Given the description of an element on the screen output the (x, y) to click on. 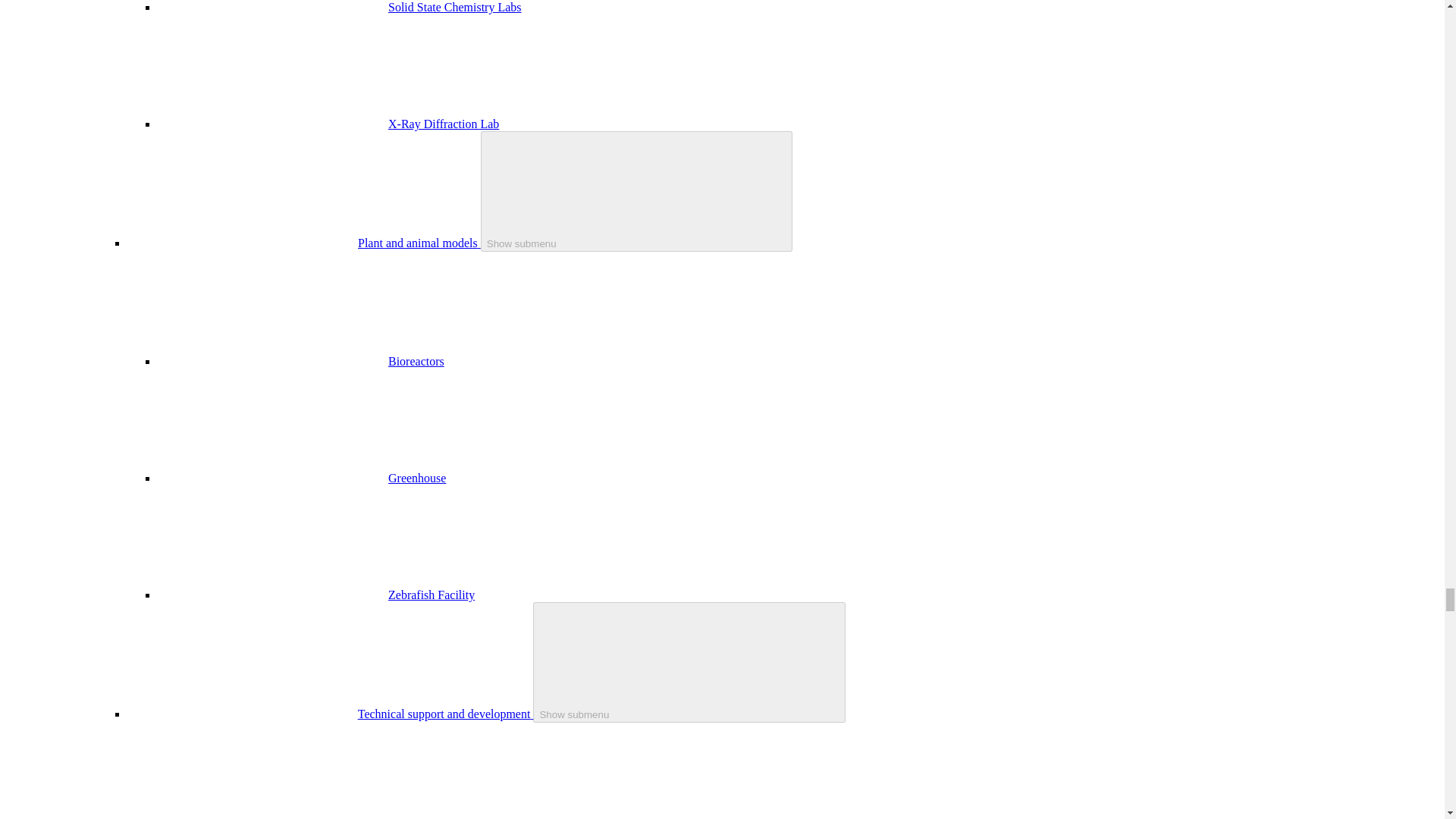
X-Ray Diffraction Lab (443, 123)
